Given the description of an element on the screen output the (x, y) to click on. 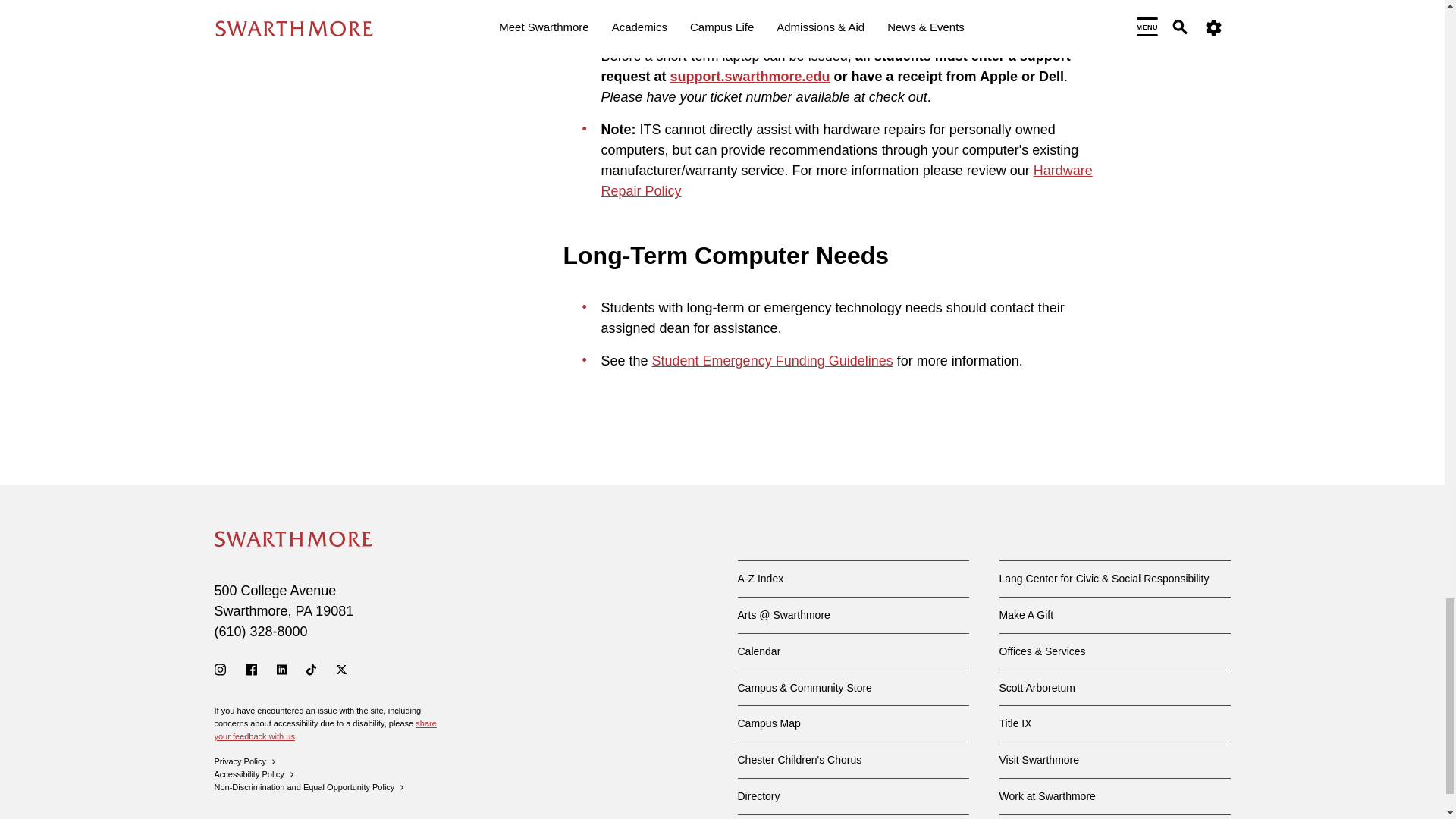
Instagram (219, 669)
Pennsylvania (304, 611)
Swarthmore College - Home (292, 538)
Facebook (251, 669)
